Given the description of an element on the screen output the (x, y) to click on. 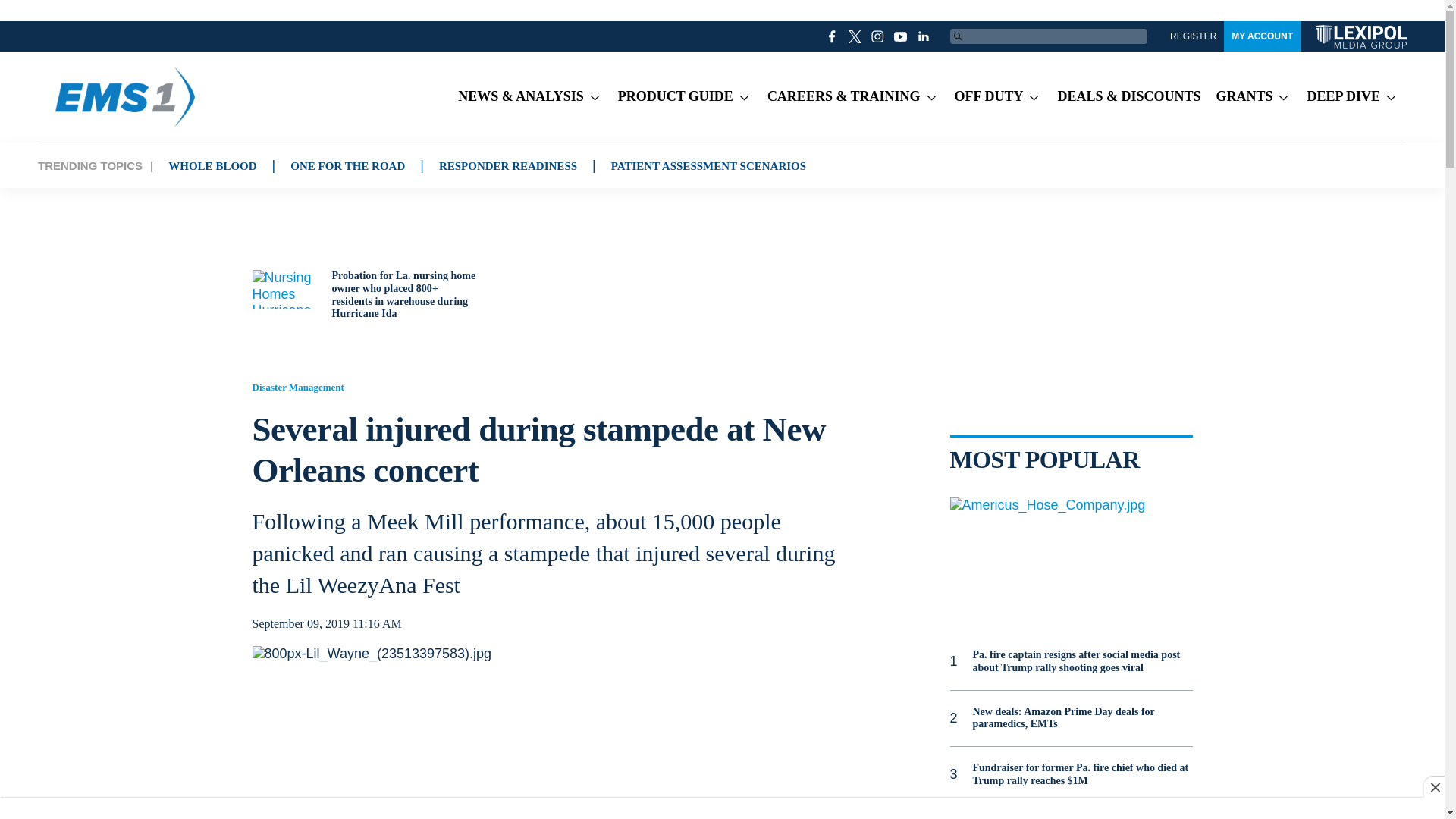
REGISTER (1192, 36)
instagram (877, 36)
facebook (832, 36)
twitter (855, 36)
linkedin (923, 36)
youtube (900, 36)
MY ACCOUNT (1262, 36)
